Given the description of an element on the screen output the (x, y) to click on. 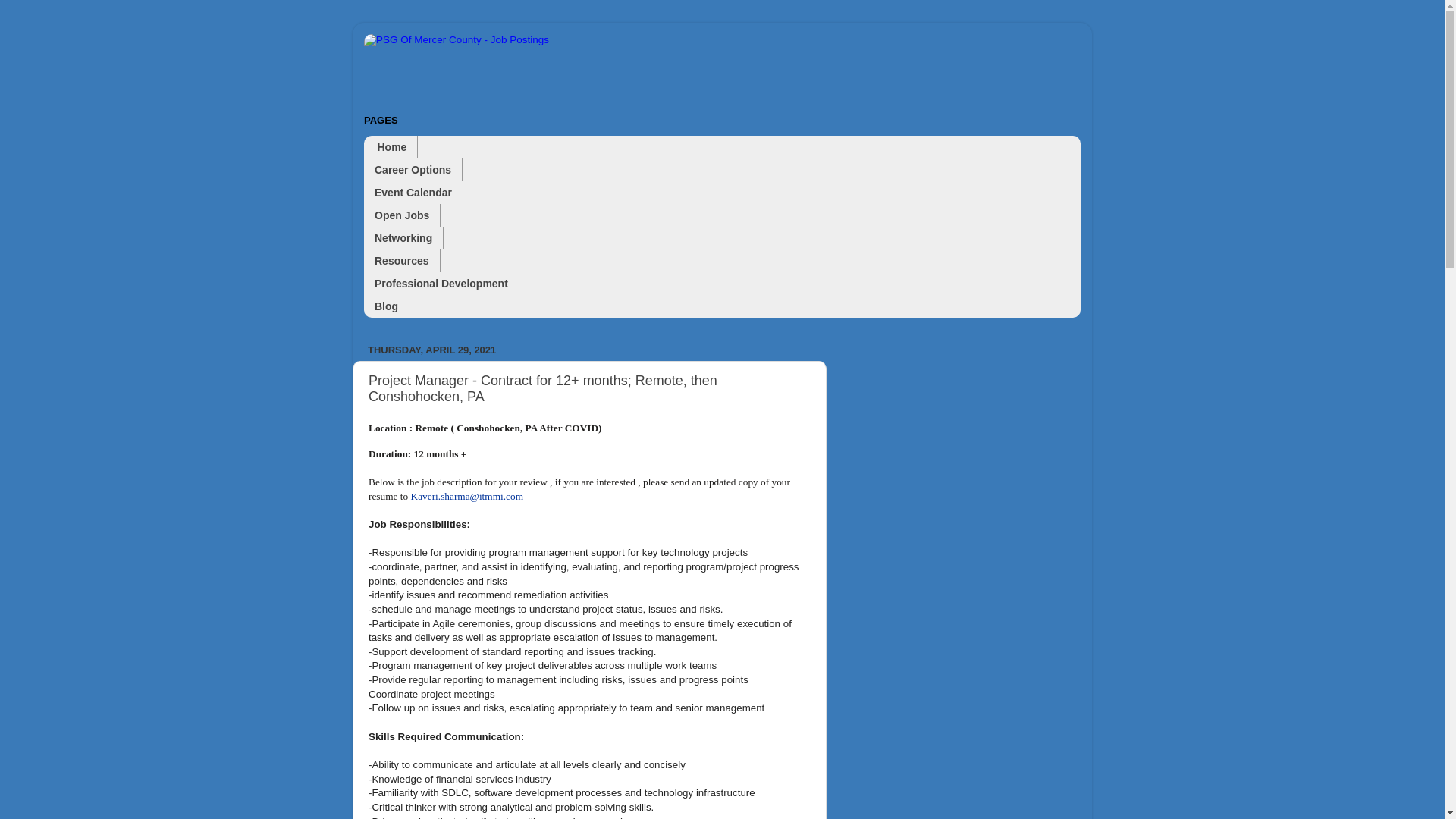
Blog (386, 305)
Networking (404, 237)
Resources (402, 260)
Home (390, 146)
Event Calendar (413, 191)
Professional Development (441, 282)
Open Jobs (402, 214)
Career Options (413, 169)
